Given the description of an element on the screen output the (x, y) to click on. 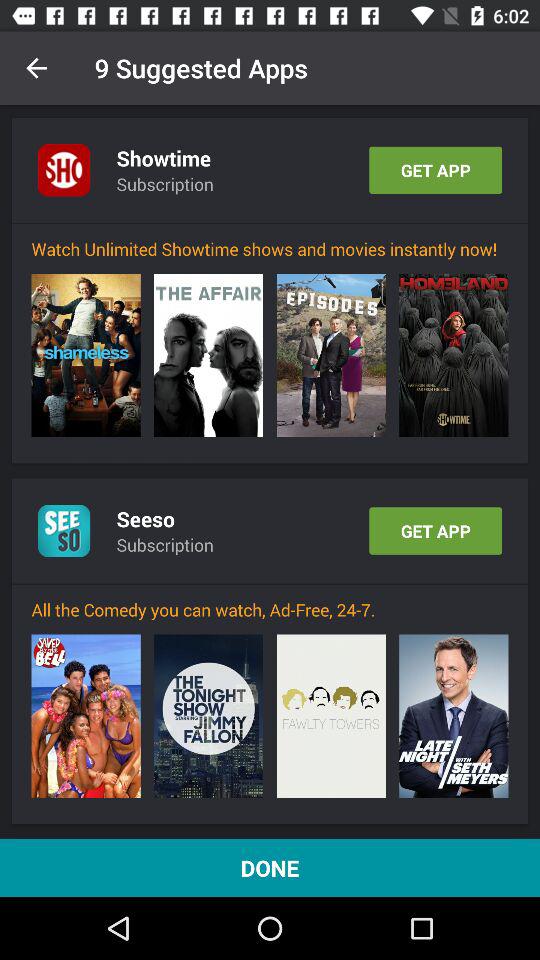
turn on icon below all the comedy item (453, 716)
